Given the description of an element on the screen output the (x, y) to click on. 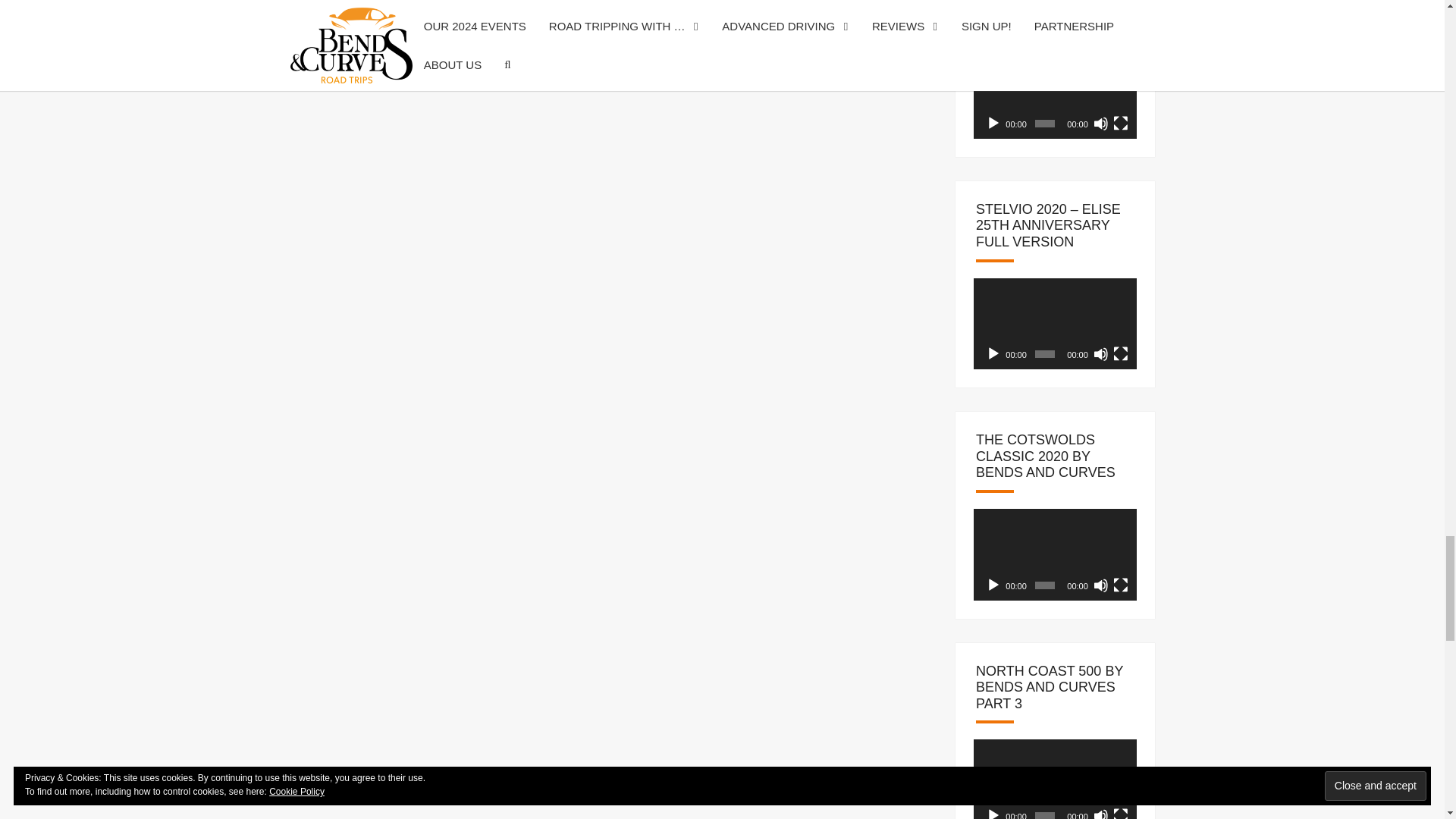
Play (993, 123)
Mute (1100, 353)
Play (993, 353)
Fullscreen (1120, 123)
Mute (1100, 123)
Fullscreen (1120, 353)
